Given the description of an element on the screen output the (x, y) to click on. 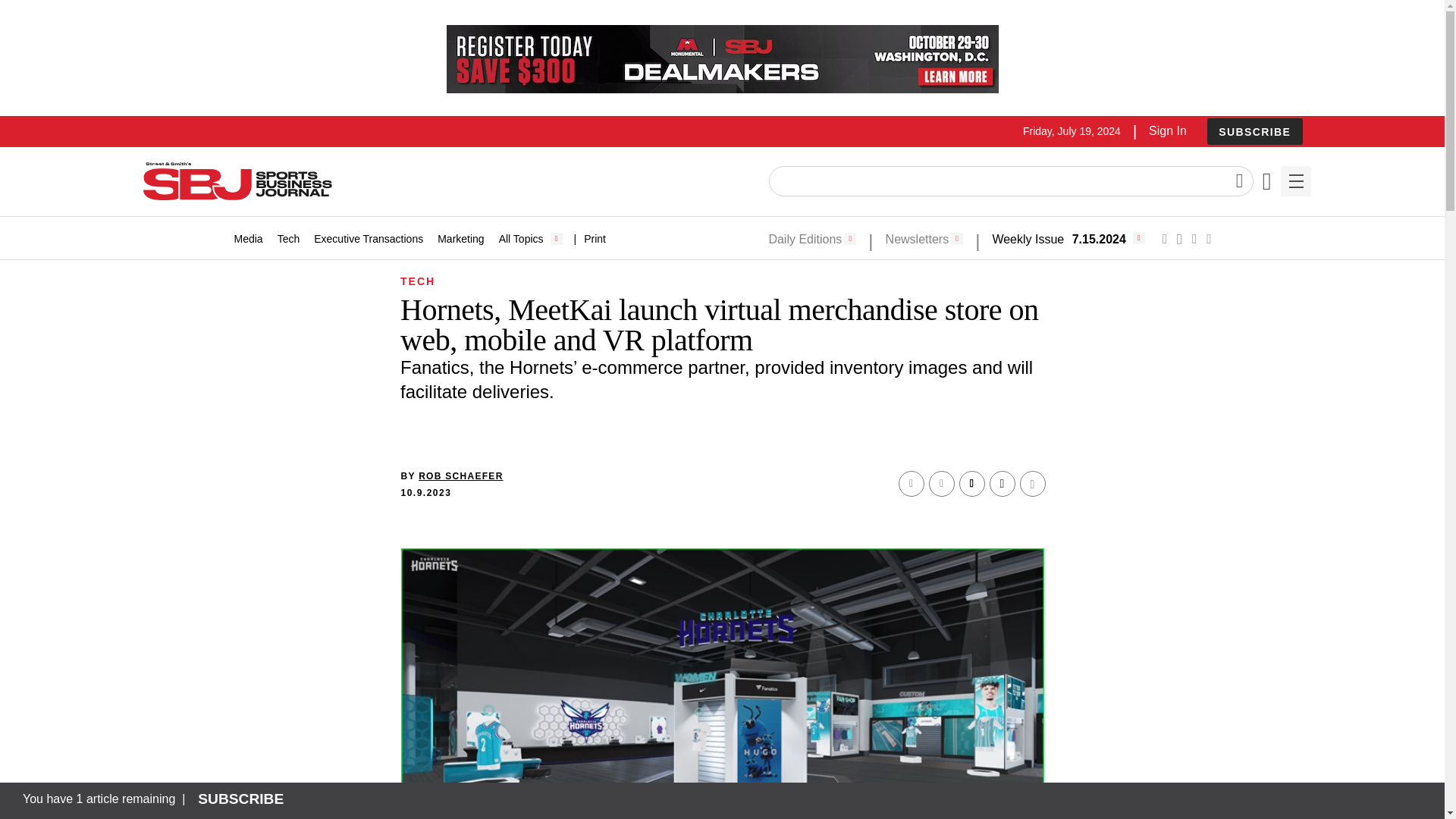
3rd party ad content (721, 59)
SUBSCRIBE (1255, 130)
Menu (1294, 181)
Sign In (1167, 131)
SIGN IN (1194, 415)
SUBSCRIBE (1254, 131)
